Given the description of an element on the screen output the (x, y) to click on. 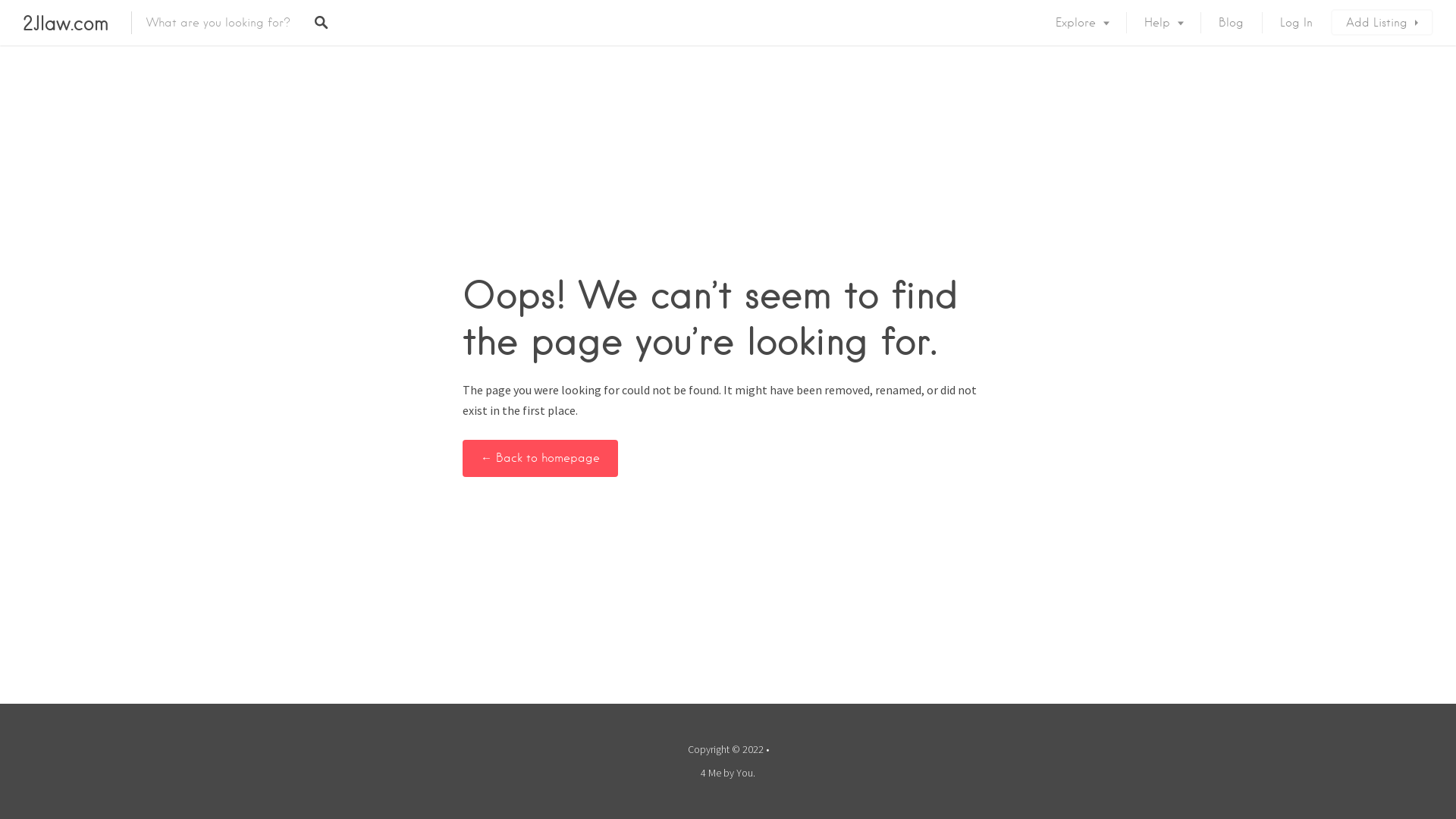
Log In Element type: text (1295, 22)
Help Element type: text (1163, 22)
Add Listing Element type: text (1381, 22)
You Element type: text (744, 772)
Explore Element type: text (1081, 22)
2Jlaw.com Element type: text (65, 22)
Blog Element type: text (1230, 22)
Me Element type: text (714, 772)
